Given the description of an element on the screen output the (x, y) to click on. 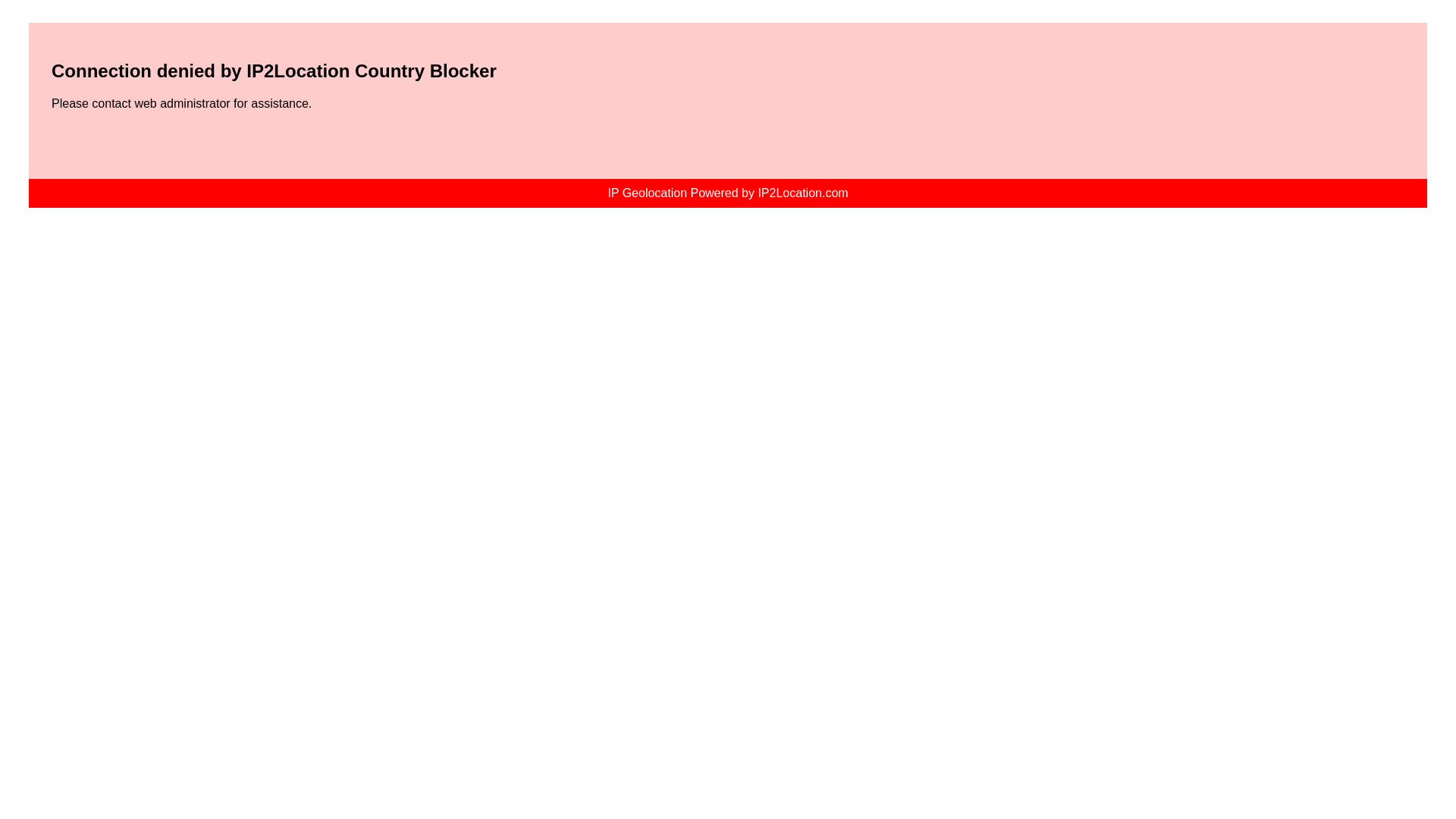
IP Geolocation Powered by IP2Location.com (727, 192)
